Given the description of an element on the screen output the (x, y) to click on. 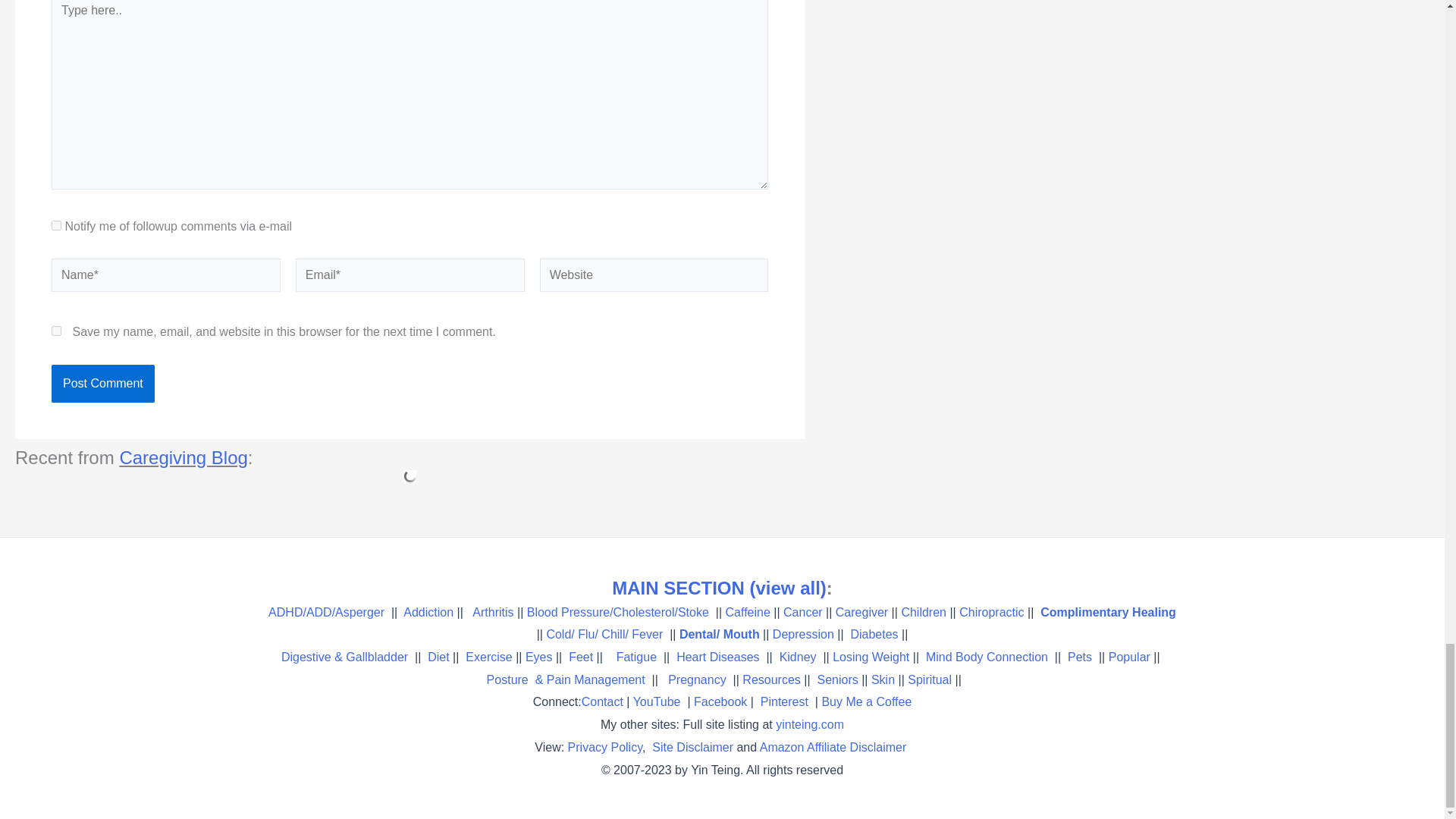
Post Comment (102, 383)
subscribe (55, 225)
Caregiving Blog (183, 457)
yes (55, 330)
Post Comment (102, 383)
